Given the description of an element on the screen output the (x, y) to click on. 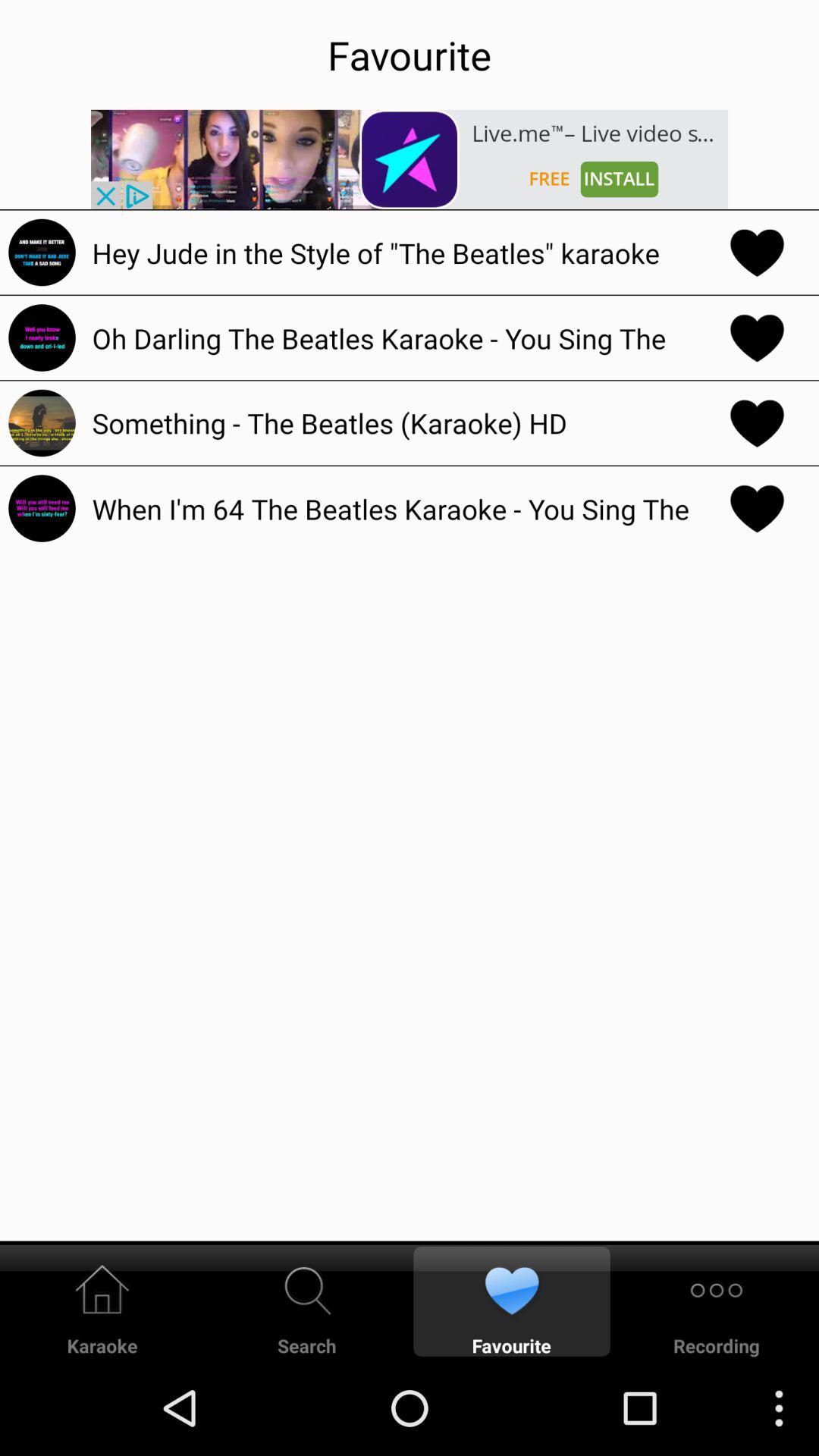
advertisement banner (409, 159)
